Given the description of an element on the screen output the (x, y) to click on. 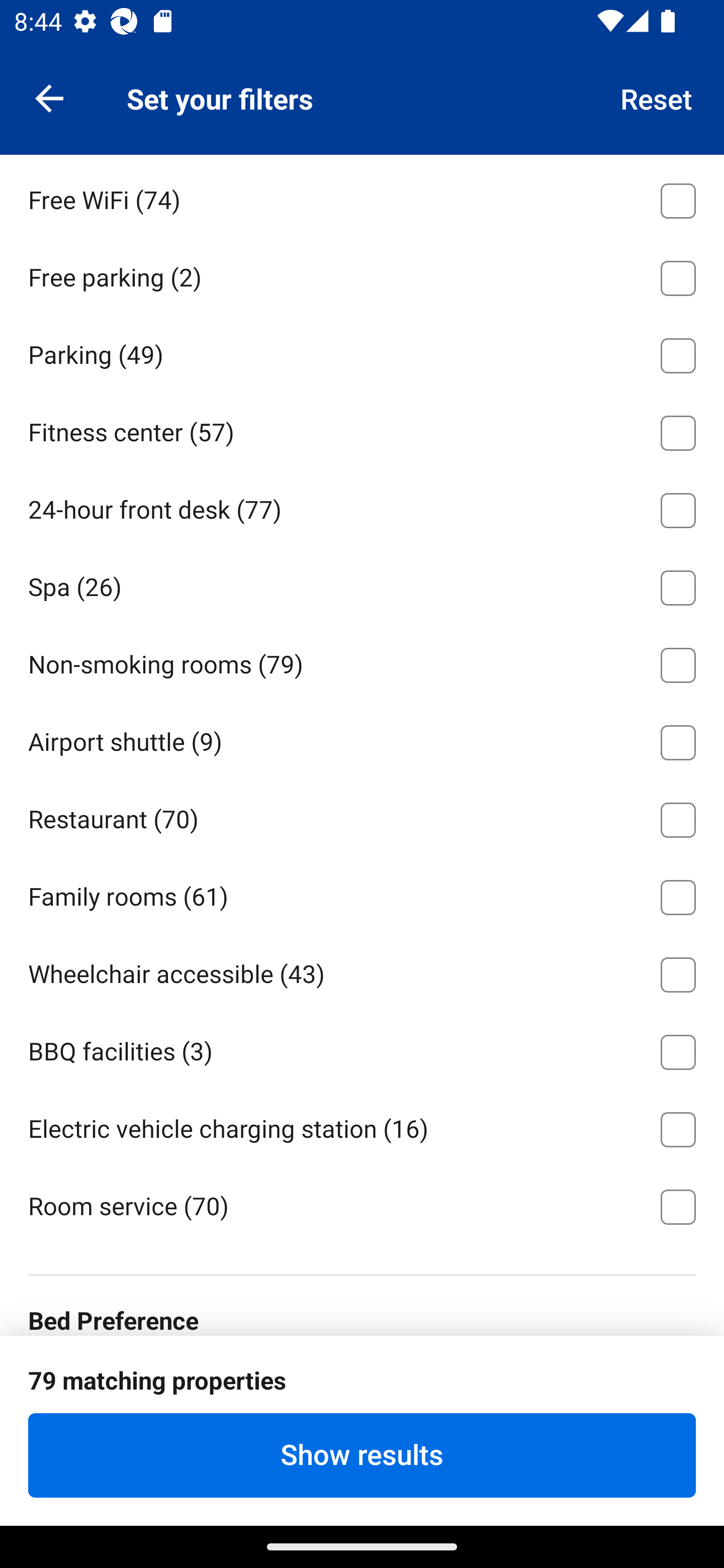
Navigate up (49, 97)
Reset (656, 97)
Free WiFi ⁦(74) (361, 197)
Free parking ⁦(2) (361, 274)
Parking ⁦(49) (361, 351)
Fitness center ⁦(57) (361, 429)
24-hour front desk ⁦(77) (361, 506)
Spa ⁦(26) (361, 583)
Non-smoking rooms ⁦(79) (361, 661)
Airport shuttle ⁦(9) (361, 738)
Restaurant ⁦(70) (361, 816)
Family rooms ⁦(61) (361, 894)
Wheelchair accessible ⁦(43) (361, 970)
BBQ facilities ⁦(3) (361, 1048)
Electric vehicle charging station ⁦(16) (361, 1126)
Room service ⁦(70) (361, 1205)
2 single beds ⁦(28) (361, 1388)
Show results (361, 1454)
